Given the description of an element on the screen output the (x, y) to click on. 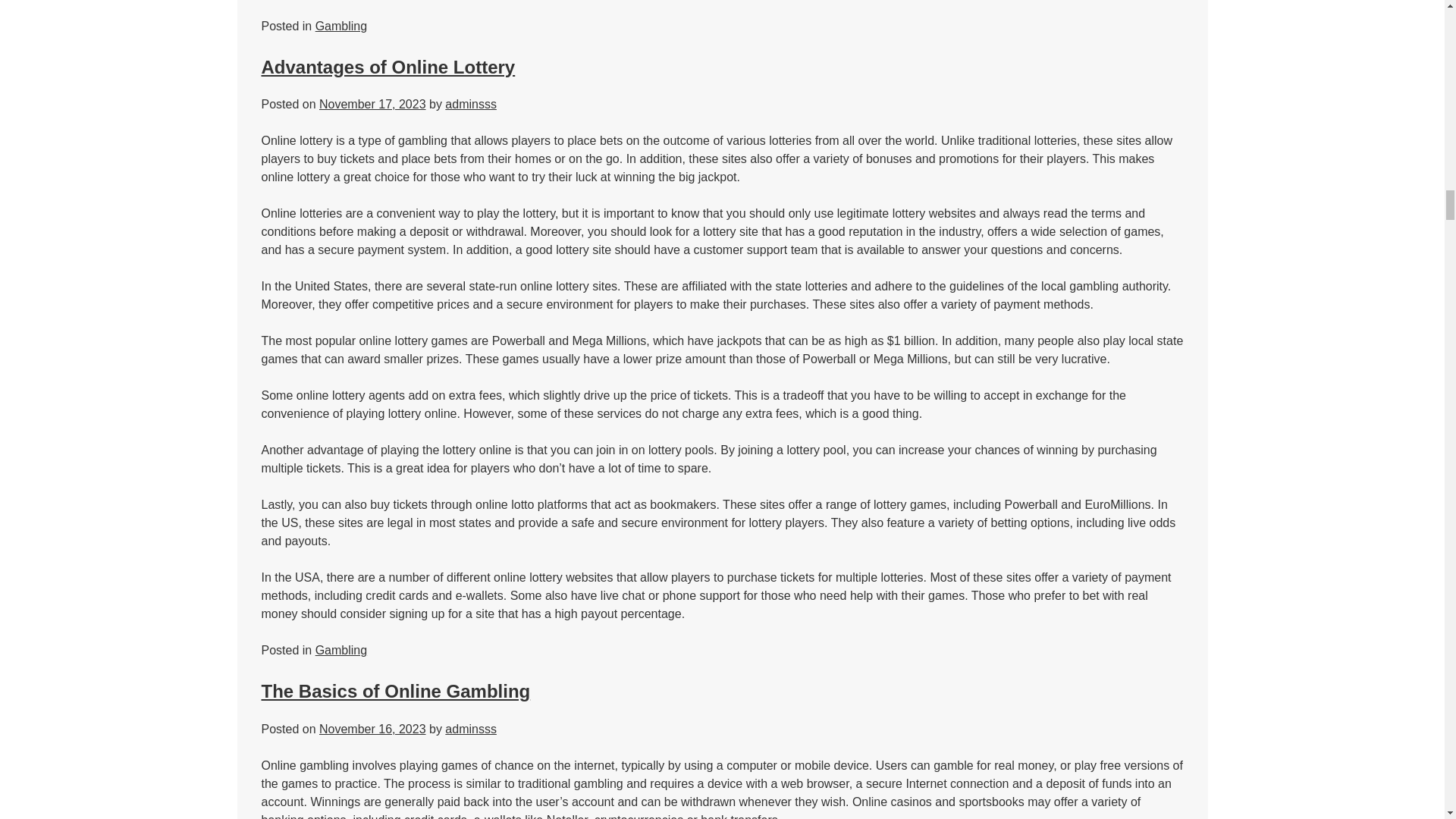
Gambling (340, 25)
Advantages of Online Lottery (387, 66)
November 17, 2023 (372, 103)
adminsss (470, 103)
Gambling (340, 649)
The Basics of Online Gambling (394, 690)
adminsss (470, 728)
November 16, 2023 (372, 728)
